Given the description of an element on the screen output the (x, y) to click on. 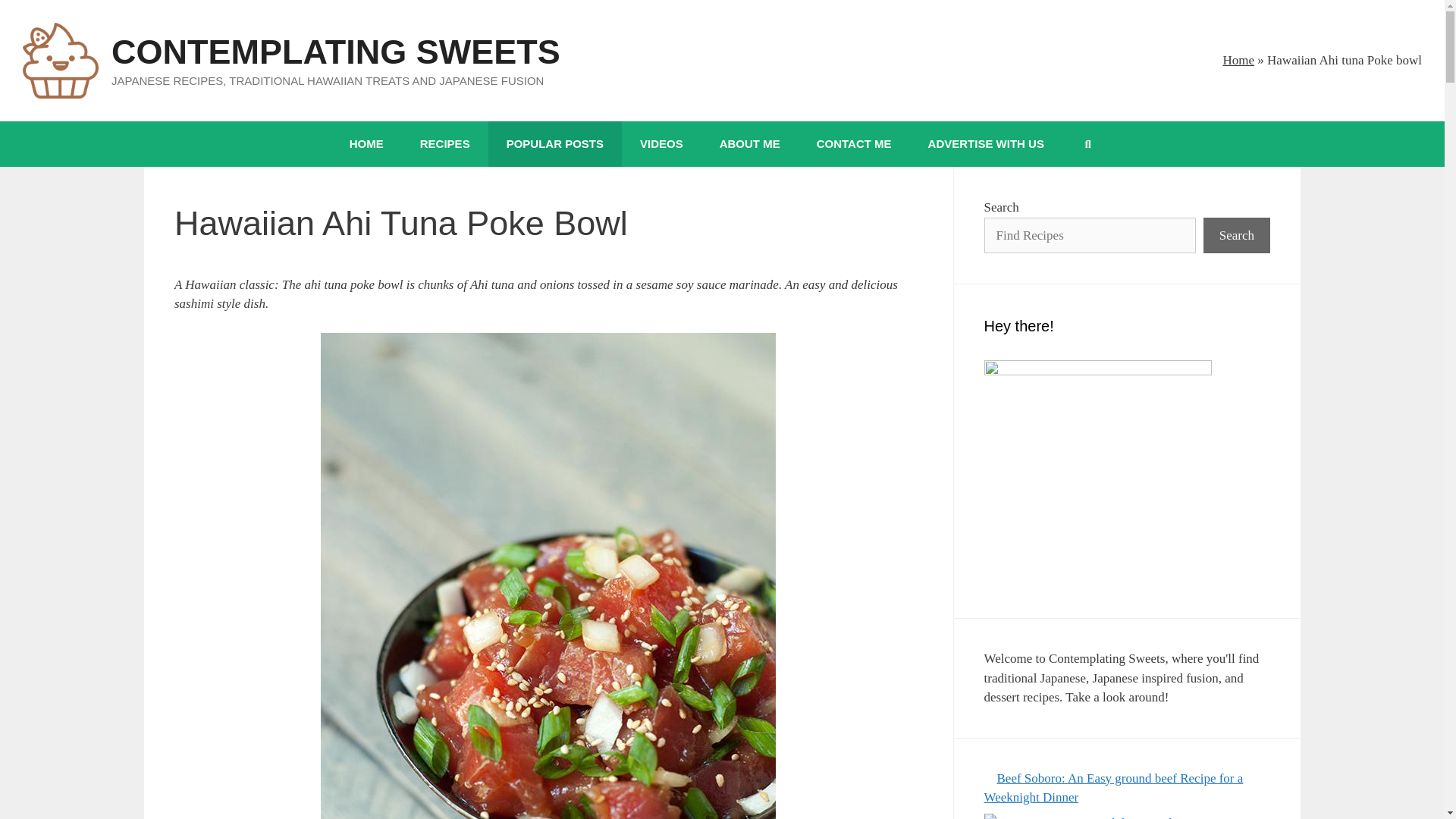
CONTEMPLATING SWEETS (336, 51)
Home (1238, 60)
ADVERTISE WITH US (986, 144)
VIDEOS (661, 144)
RECIPES (444, 144)
POPULAR POSTS (554, 144)
CONTACT ME (853, 144)
HOME (366, 144)
ABOUT ME (749, 144)
Hey there! (1097, 474)
